Given the description of an element on the screen output the (x, y) to click on. 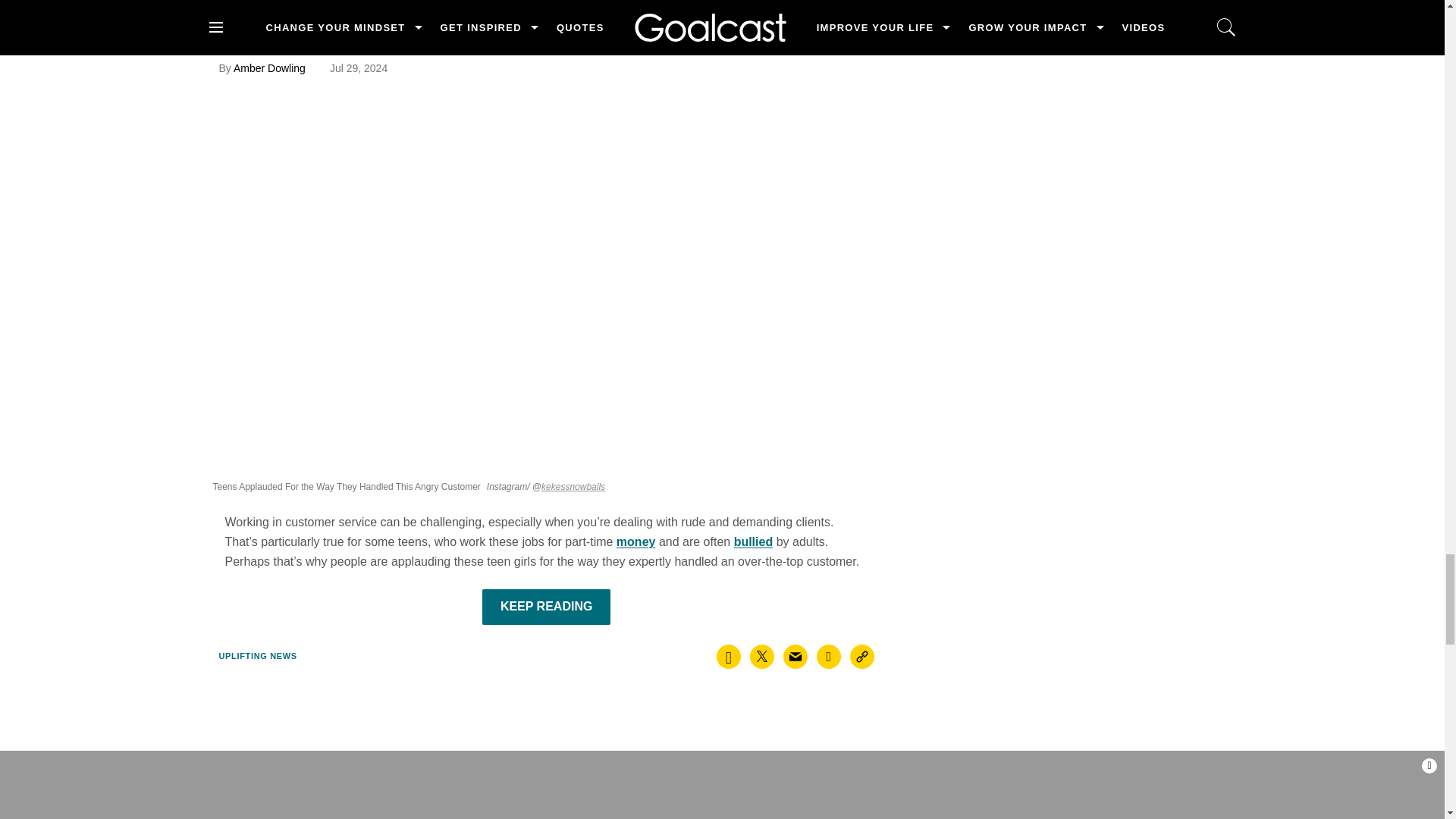
Copy this link to clipboard (862, 656)
